Given the description of an element on the screen output the (x, y) to click on. 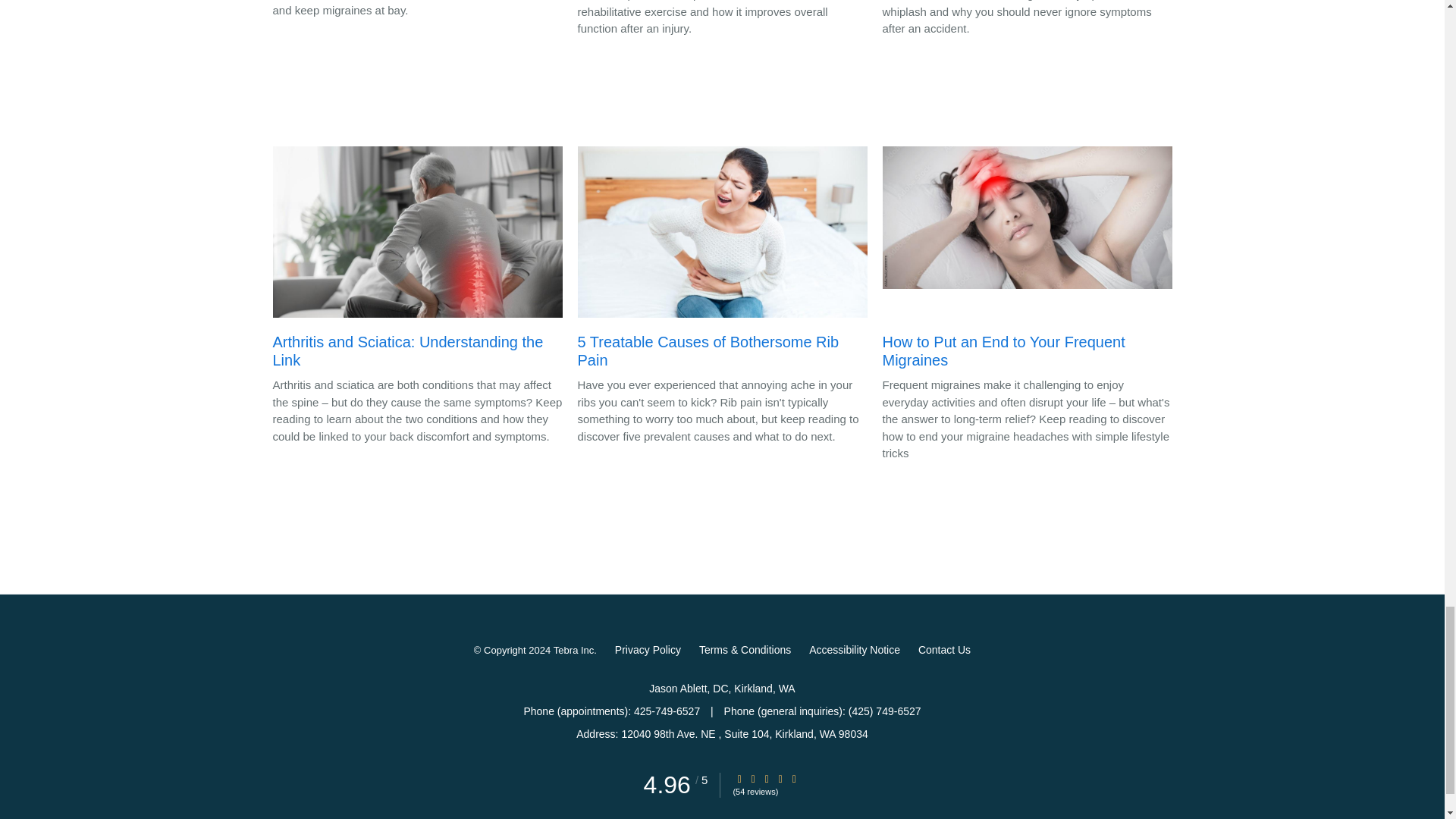
Star Rating (738, 778)
Star Rating (753, 778)
Star Rating (766, 778)
Arthritis and Sciatica: Understanding the Link (417, 261)
Star Rating (794, 778)
Star Rating (780, 778)
